Given the description of an element on the screen output the (x, y) to click on. 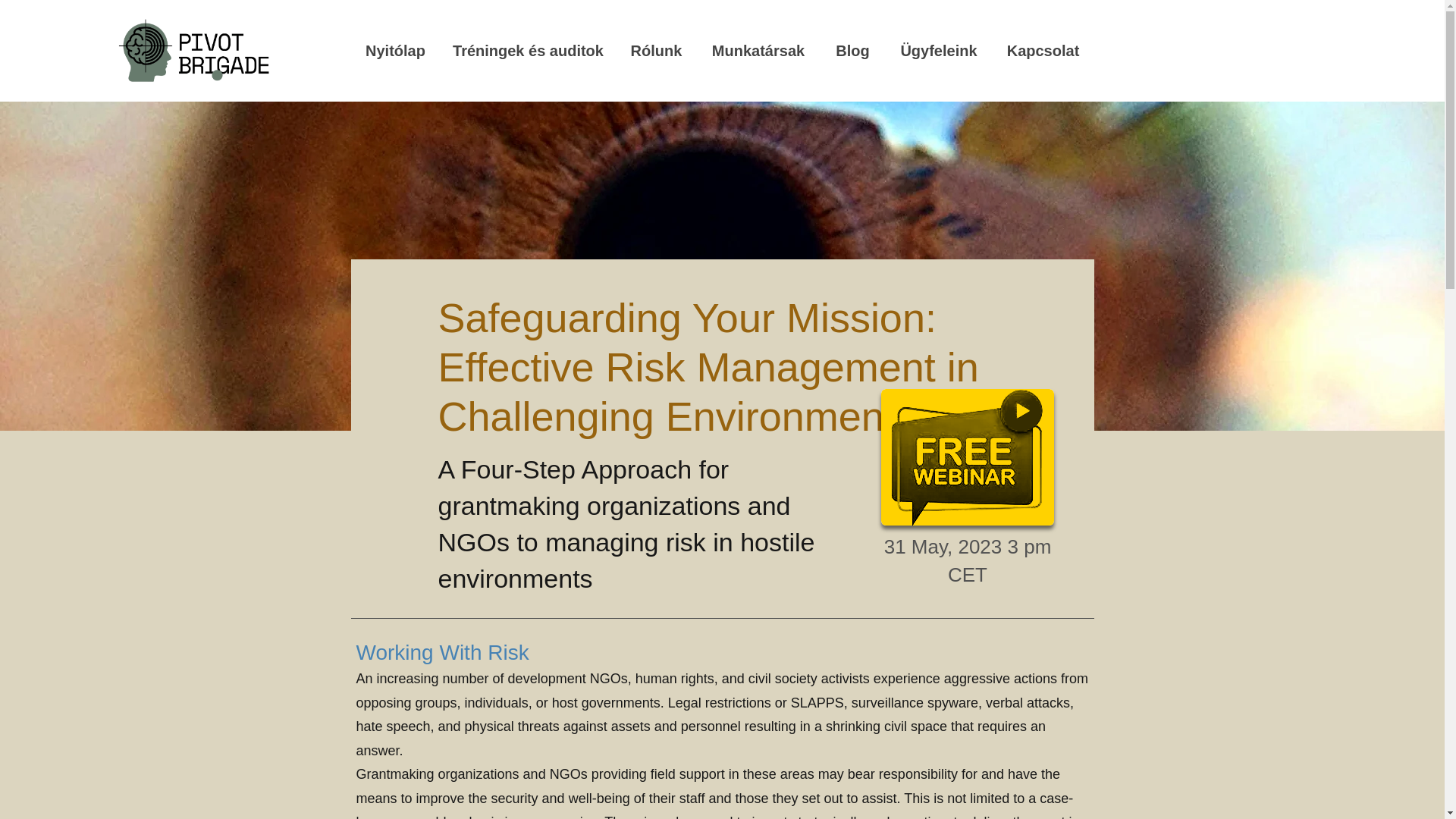
Kapcsolat (1042, 50)
Blog (851, 50)
